Given the description of an element on the screen output the (x, y) to click on. 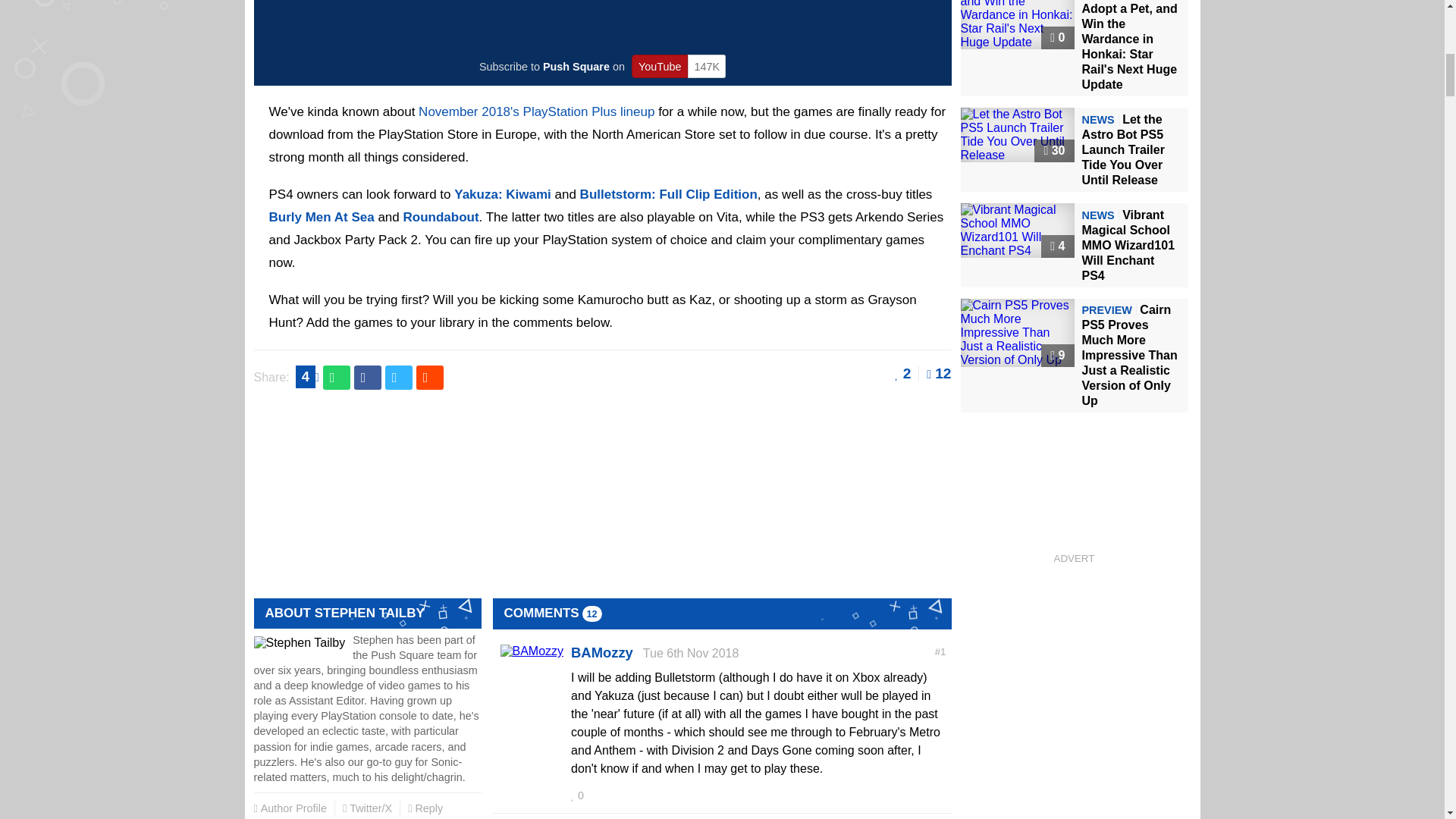
Share this on Twitter (398, 377)
YouTube Video (602, 23)
Share this on WhatsApp (336, 377)
Share this on Facebook (367, 377)
